Given the description of an element on the screen output the (x, y) to click on. 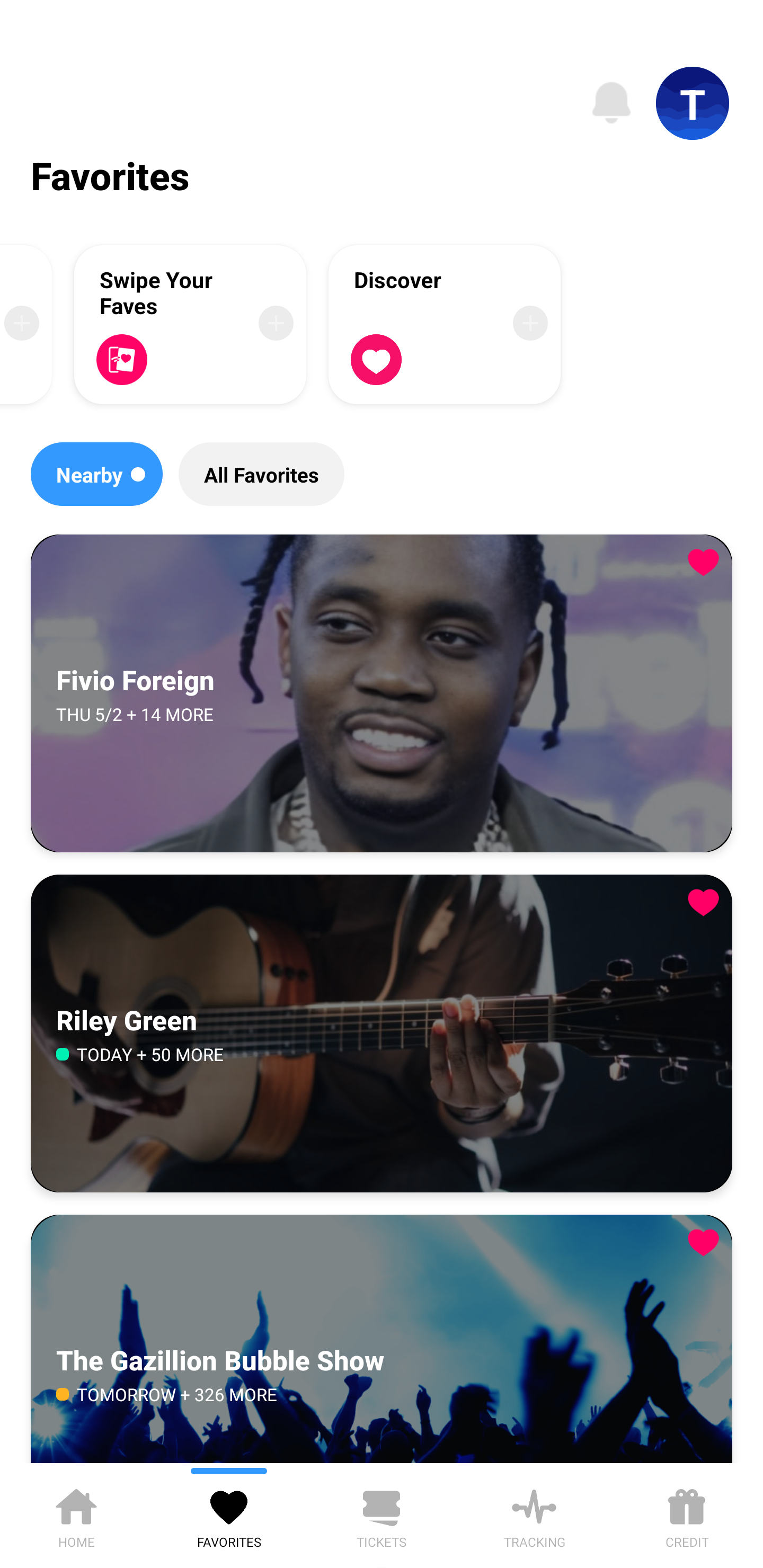
T (692, 103)
Swipe Your  Faves (189, 324)
Discover (444, 324)
Nearby (96, 474)
All Favorites (261, 474)
HOME (76, 1515)
FAVORITES (228, 1515)
TICKETS (381, 1515)
TRACKING (533, 1515)
CREDIT (686, 1515)
